Given the description of an element on the screen output the (x, y) to click on. 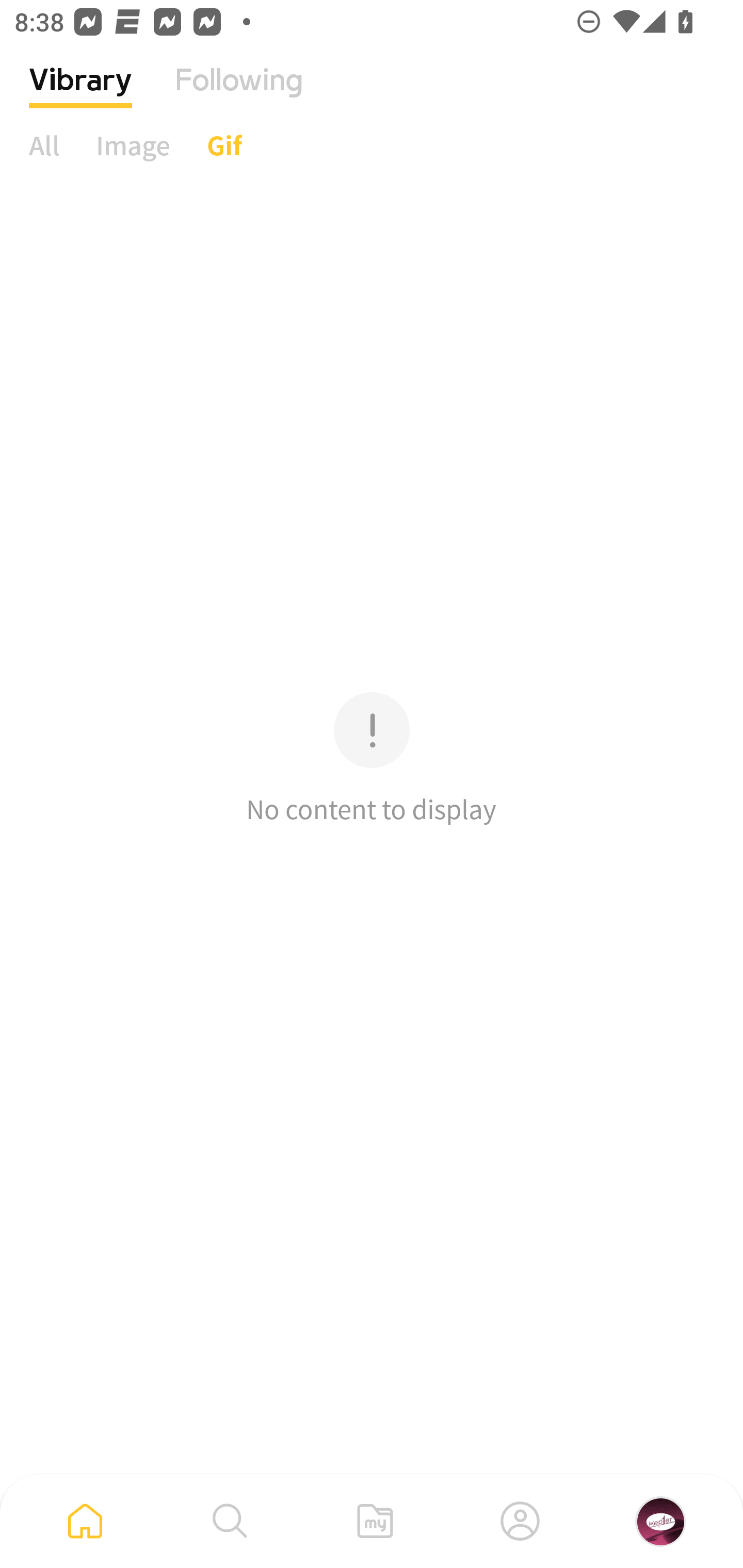
Vibrary (80, 95)
Following (239, 95)
All (44, 145)
Image (132, 145)
Gif (224, 145)
